Given the description of an element on the screen output the (x, y) to click on. 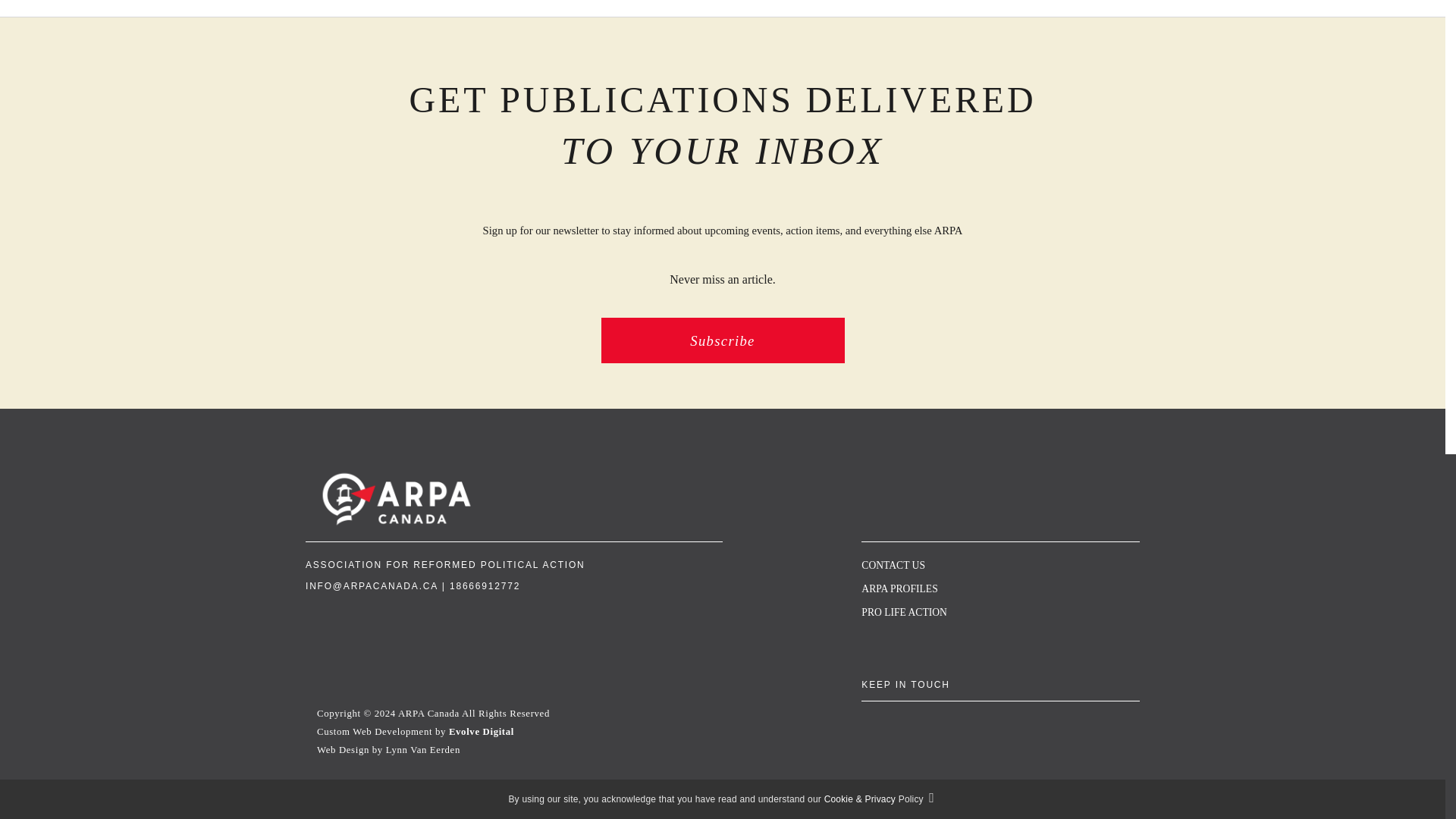
Subscribe (721, 340)
CONTACT US (892, 564)
18666912772 (484, 585)
